Given the description of an element on the screen output the (x, y) to click on. 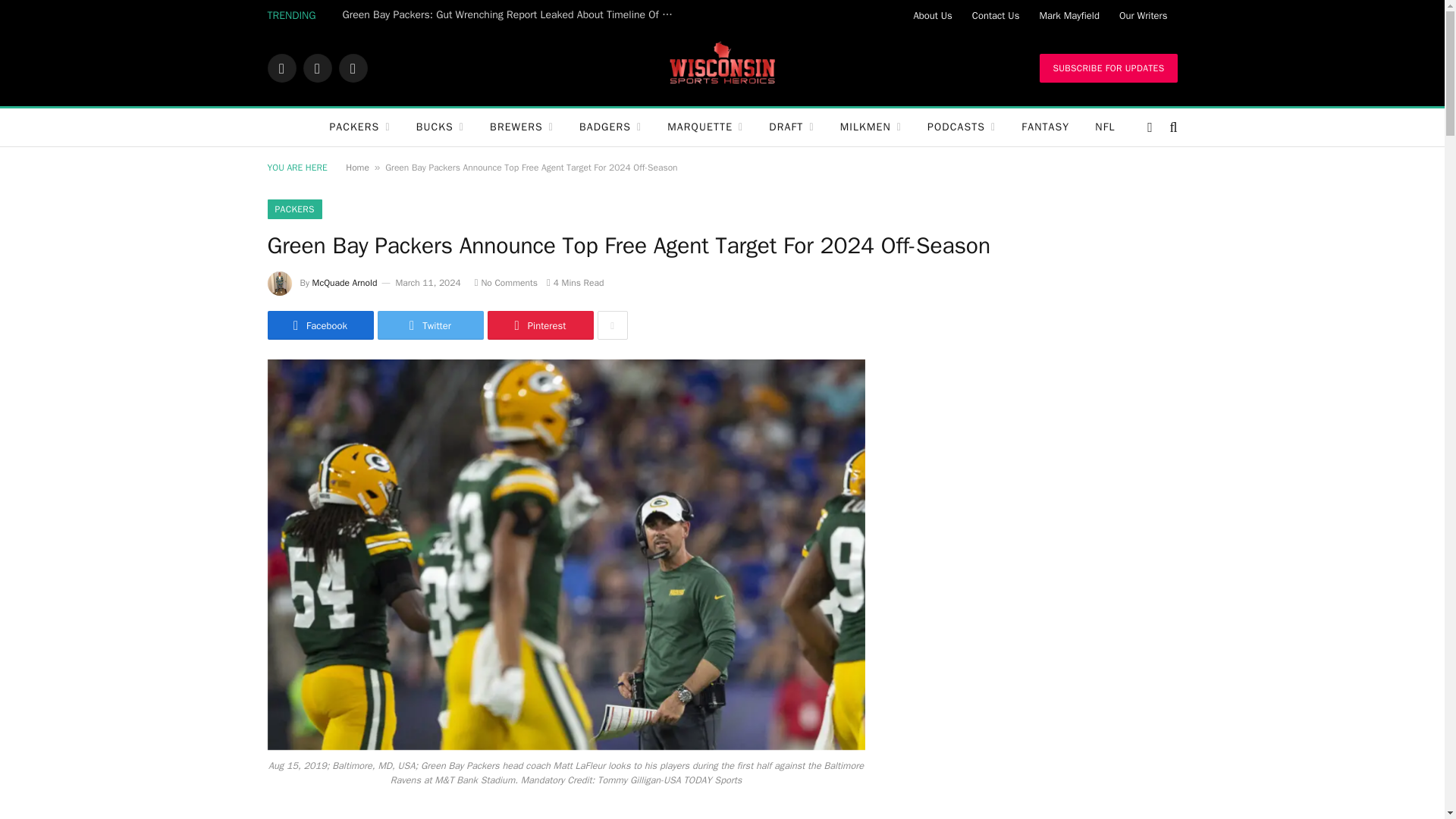
PACKERS (359, 127)
SUBSCRIBE FOR UPDATES (1107, 68)
Mark Mayfield (1068, 15)
BUCKS (440, 127)
BREWERS (521, 127)
RSS (351, 68)
Contact Us (995, 15)
Facebook (280, 68)
Our Writers (1143, 15)
Switch to Dark Design - easier on eyes. (1149, 127)
Posts by McQuade Arnold (345, 282)
About Us (931, 15)
Search (1171, 127)
